Given the description of an element on the screen output the (x, y) to click on. 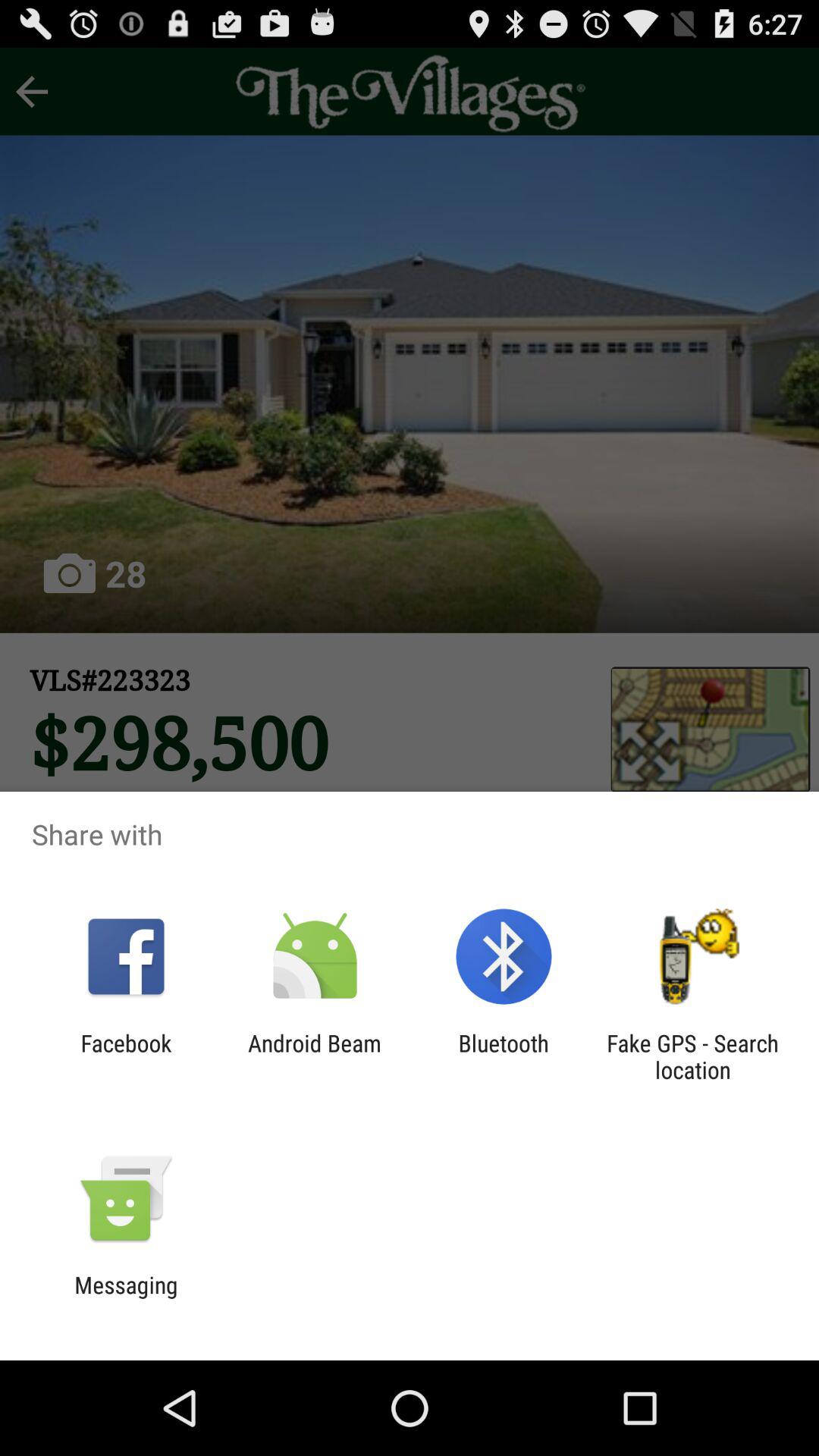
turn off icon to the left of android beam item (125, 1056)
